Given the description of an element on the screen output the (x, y) to click on. 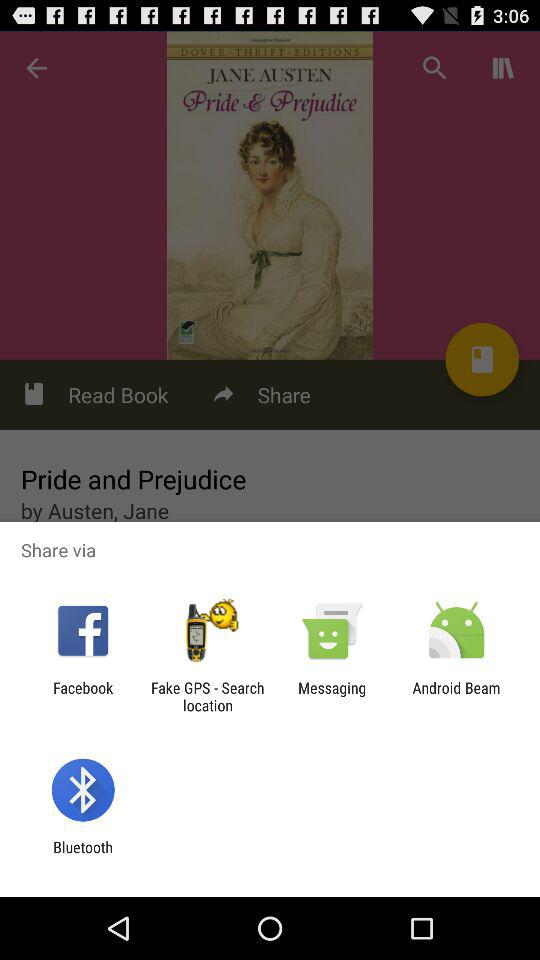
jump until bluetooth (82, 856)
